Given the description of an element on the screen output the (x, y) to click on. 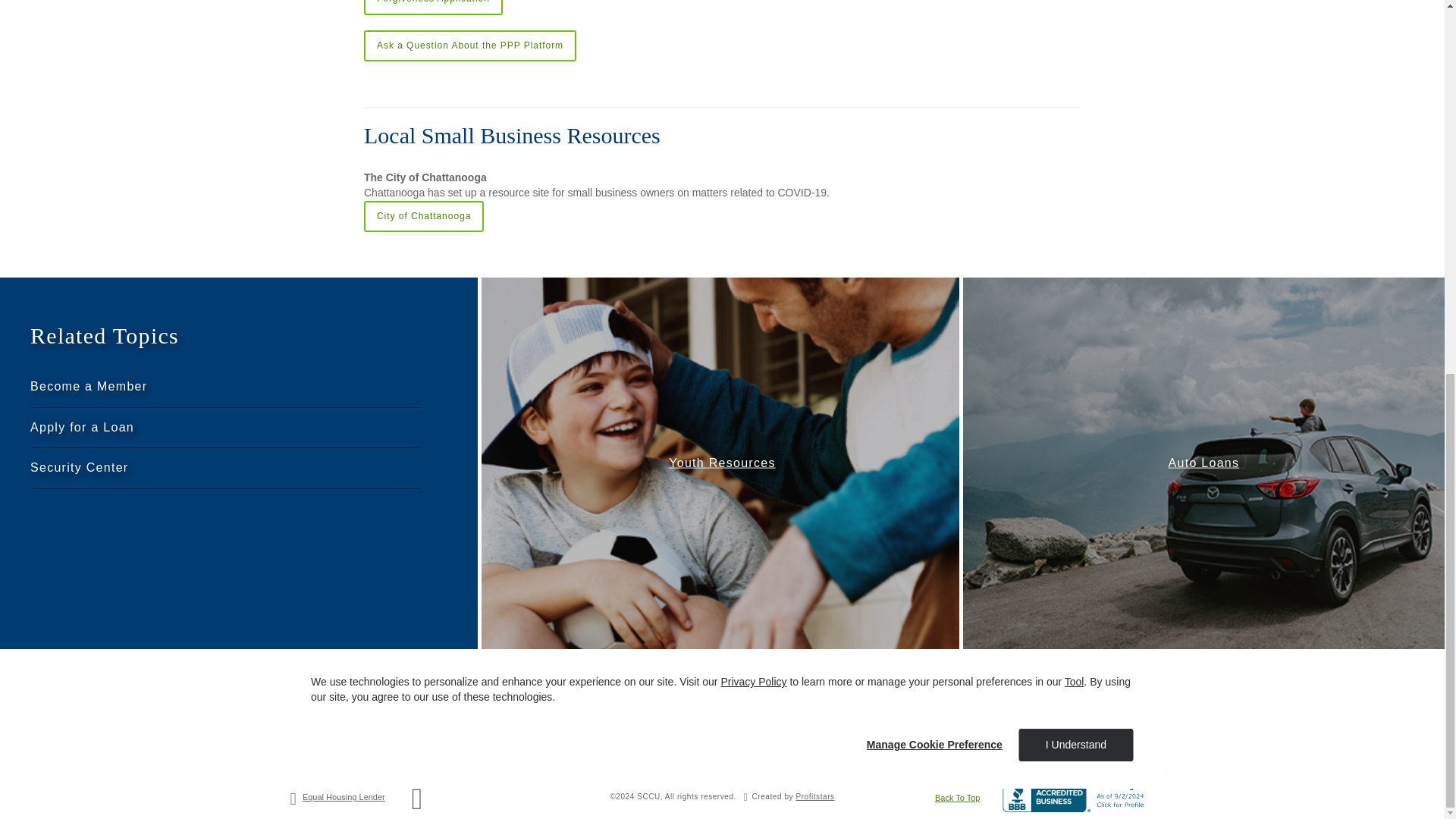
Created by Profitstars (814, 796)
Monitor Scan Details (1017, 692)
National Credit Union Administration (417, 805)
Equal Housing Lender (343, 796)
Scanned by Banno Monitor (1120, 683)
